Given the description of an element on the screen output the (x, y) to click on. 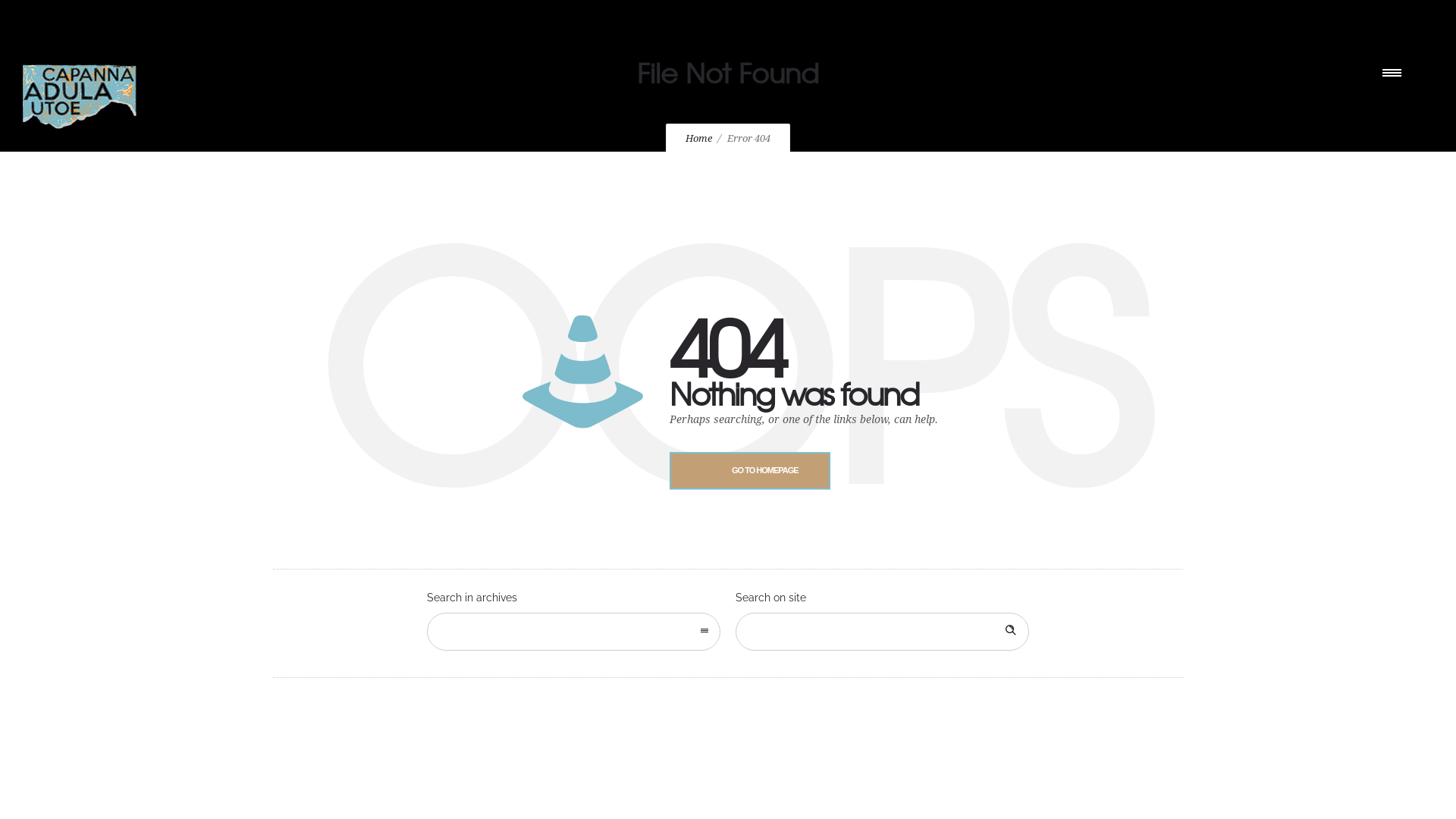
Home Element type: text (698, 138)
Search Element type: text (1010, 631)
menu Element type: hover (1395, 72)
GO TO HOMEPAGE Element type: text (749, 470)
